Given the description of an element on the screen output the (x, y) to click on. 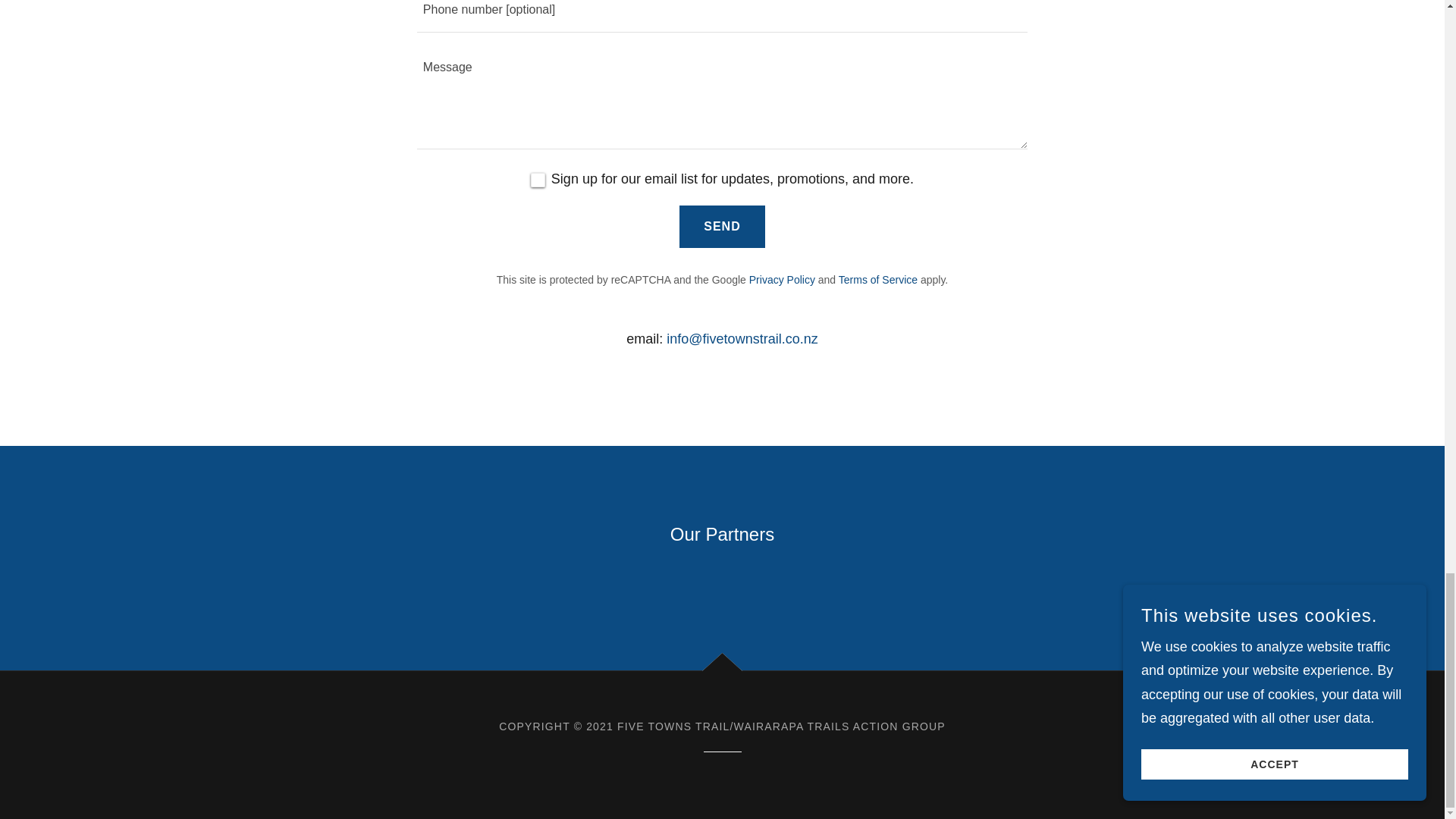
SEND (721, 226)
Privacy Policy (782, 279)
Terms of Service (877, 279)
